Given the description of an element on the screen output the (x, y) to click on. 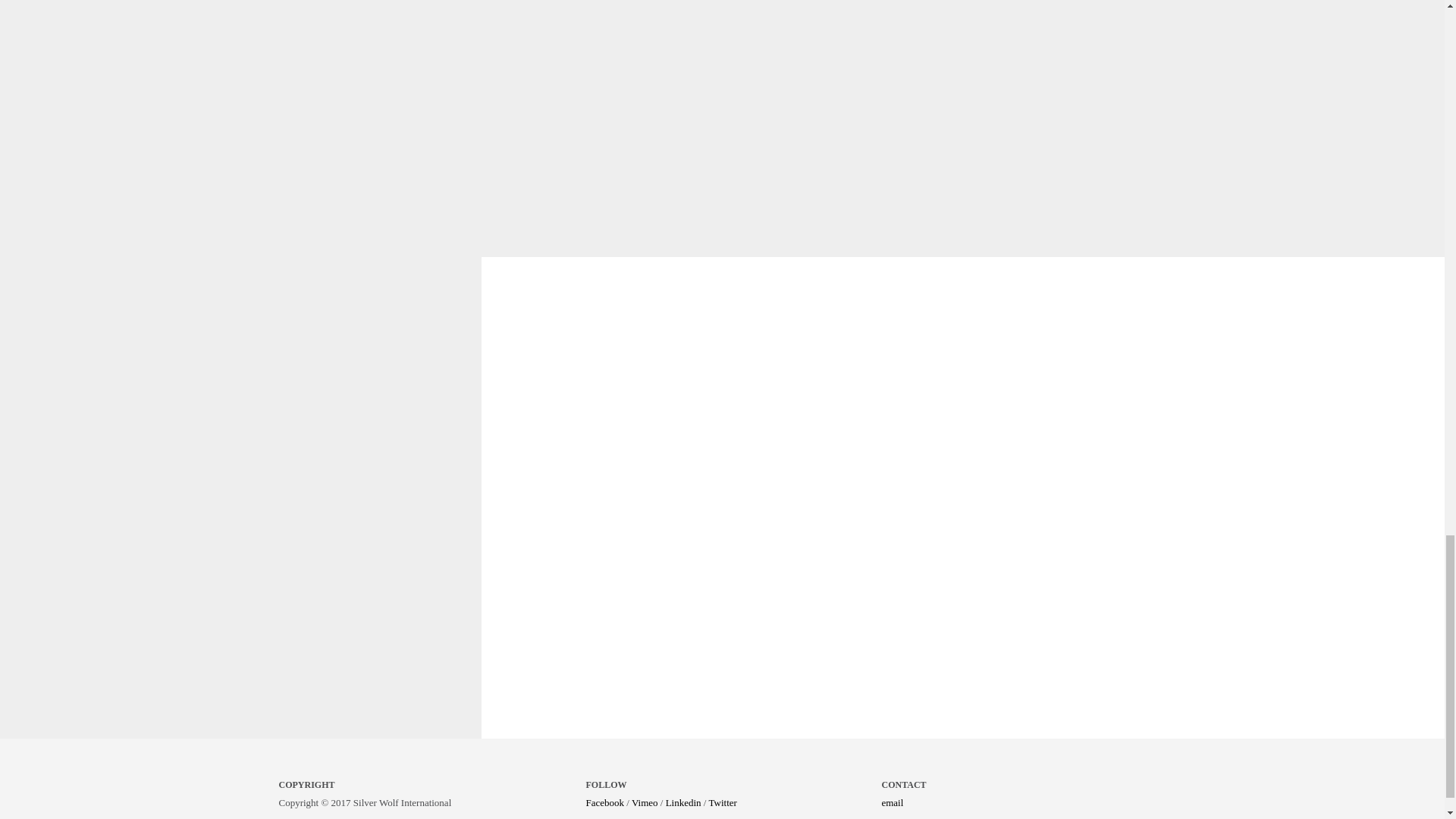
Vimeo (644, 802)
Linkedin (683, 802)
Twitter (721, 802)
Facebook (604, 802)
email (891, 802)
